Given the description of an element on the screen output the (x, y) to click on. 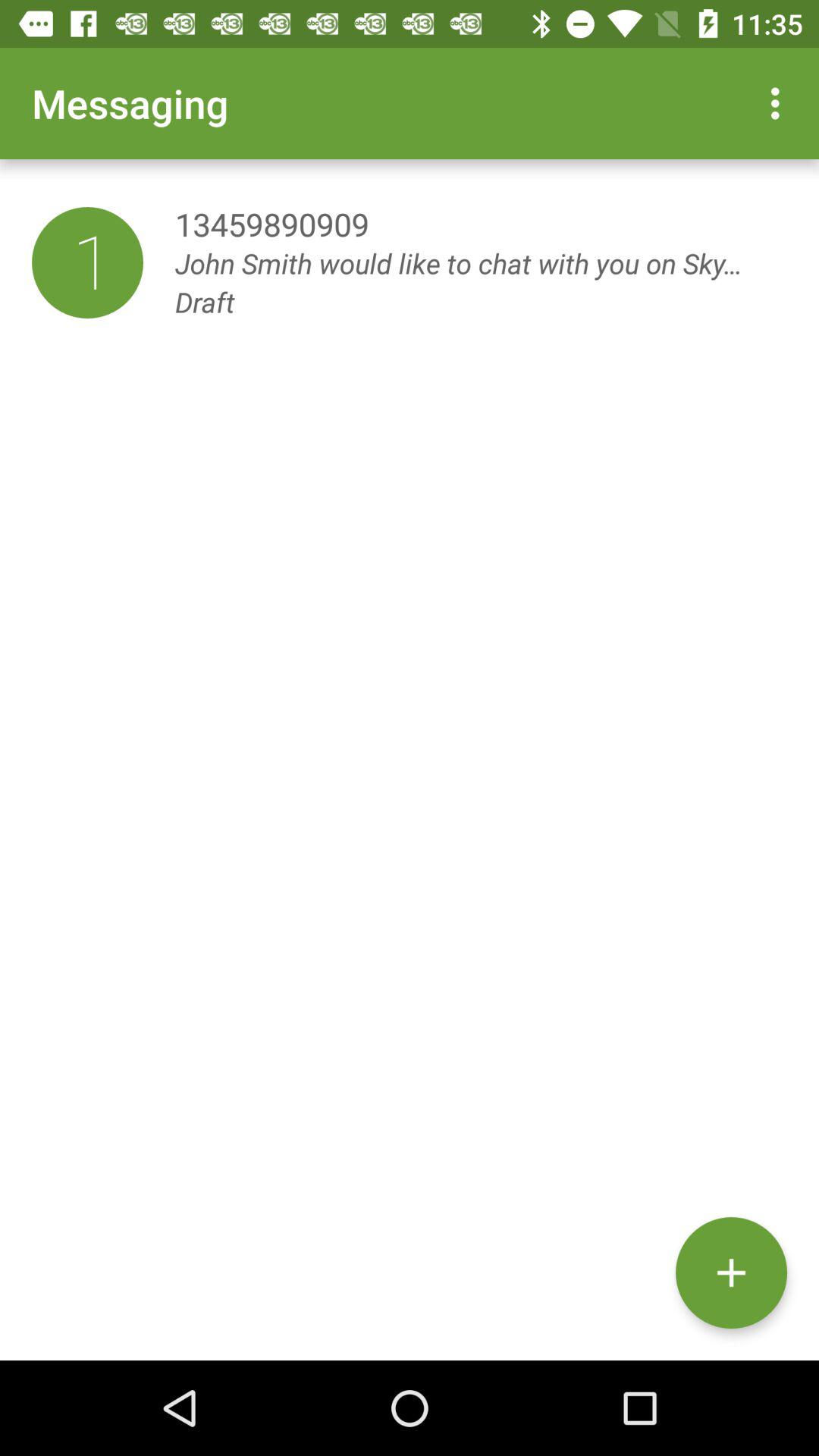
choose the item above the 13459890909 icon (779, 103)
